Given the description of an element on the screen output the (x, y) to click on. 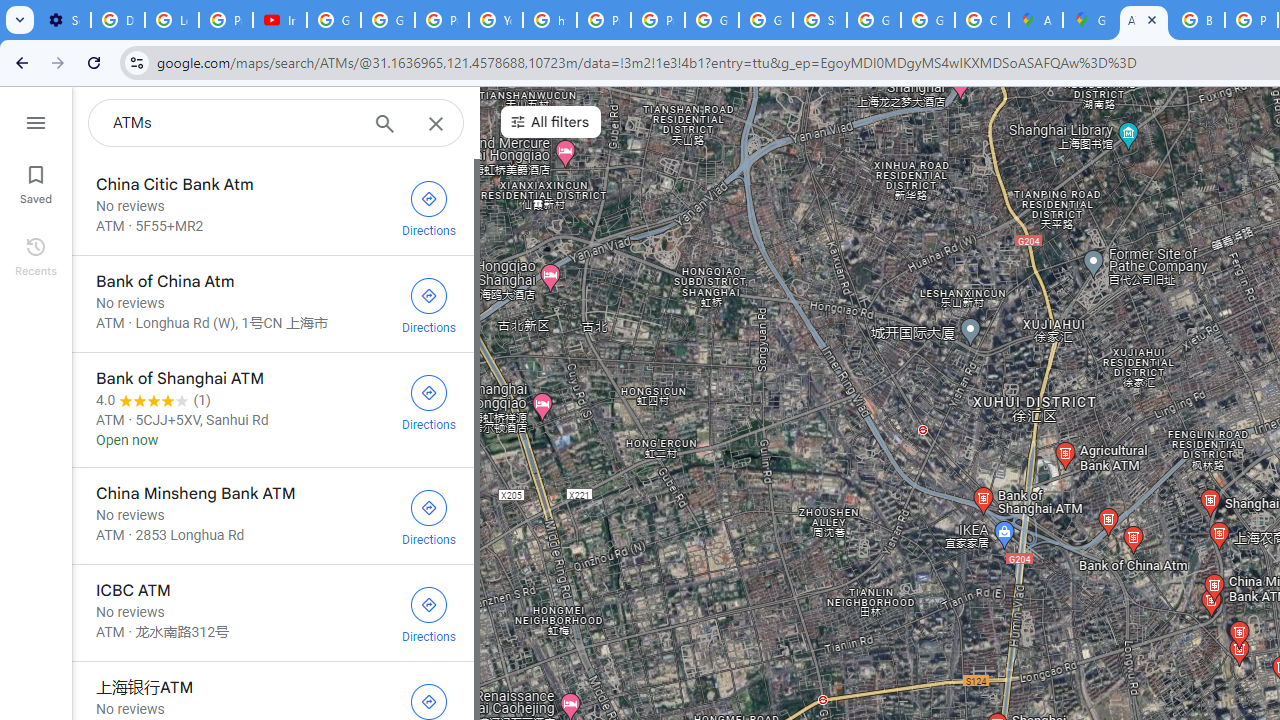
Google Account Help (333, 20)
Learn how to find your photos - Google Photos Help (171, 20)
